Given the description of an element on the screen output the (x, y) to click on. 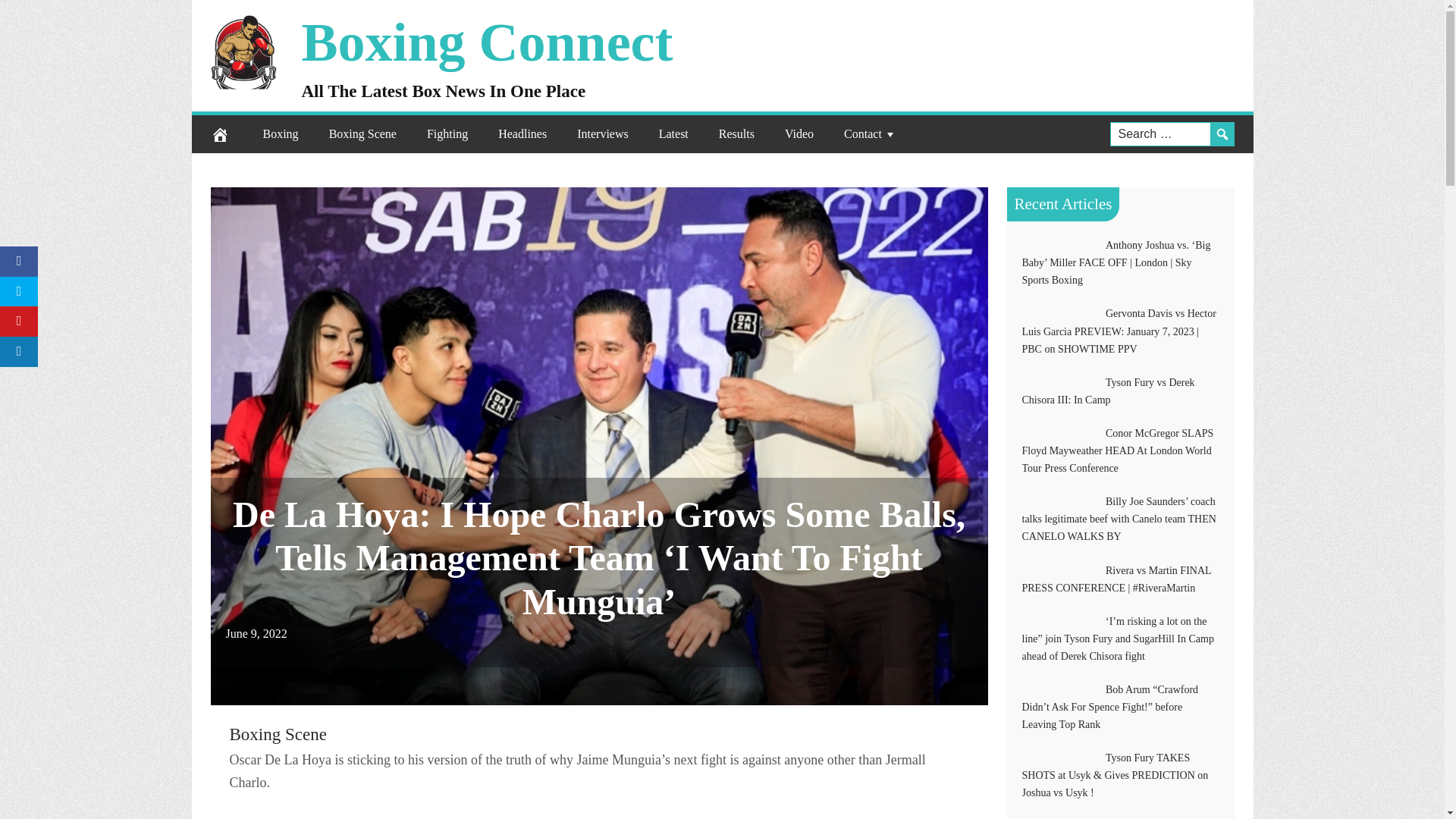
Results (736, 134)
Headlines (522, 134)
Fighting (447, 134)
Boxing Scene (363, 134)
Boxing Scene (277, 733)
Video (799, 134)
Interviews (602, 134)
Boxing (280, 134)
Latest (673, 134)
